Given the description of an element on the screen output the (x, y) to click on. 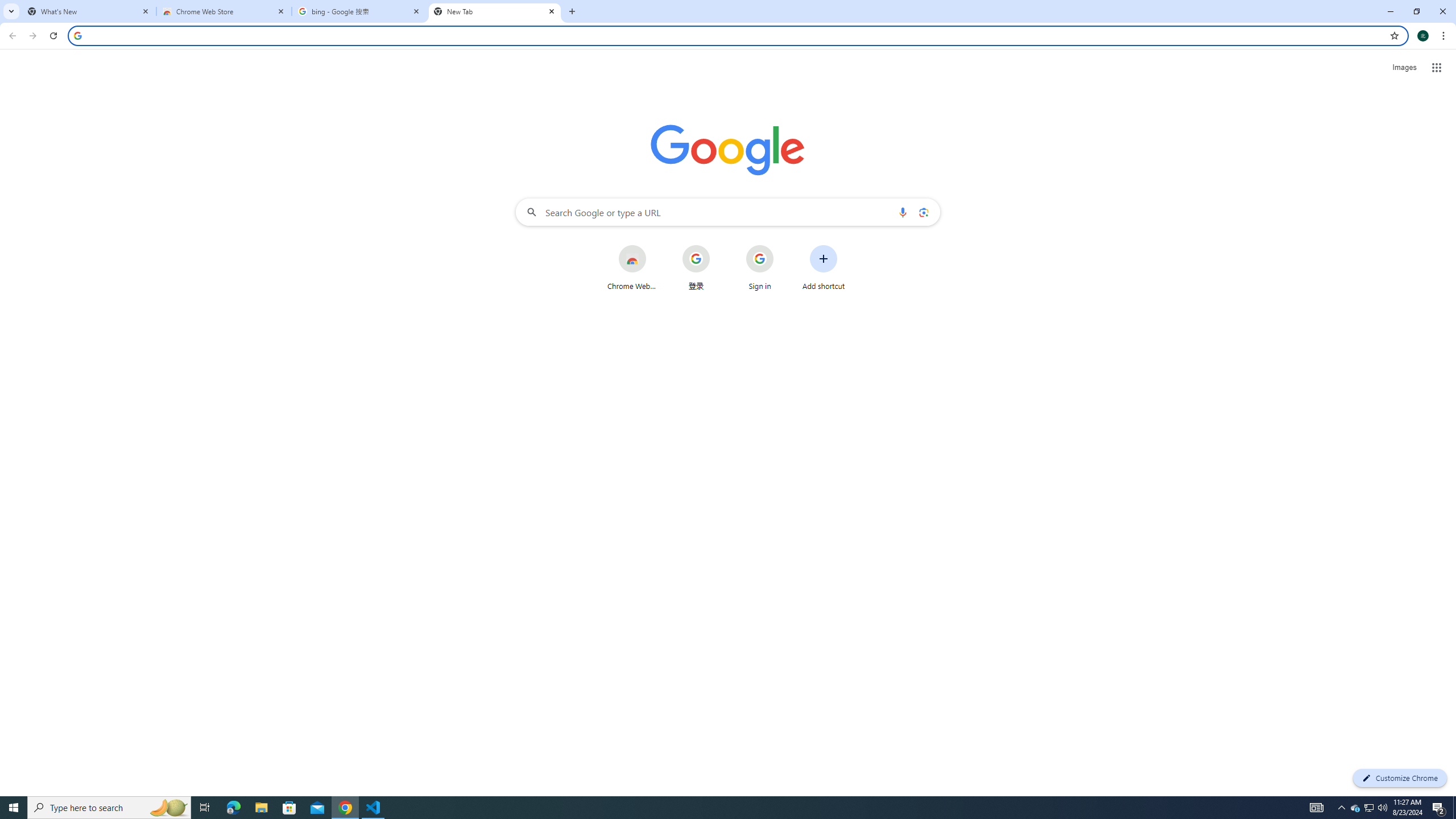
Style Set (1048, 107)
Themes (36, 92)
Paragraph Spacing (1194, 72)
Sign in (1304, 18)
Watermark (1295, 92)
Casual (580, 91)
Language Chinese (Simplified, Mainland China) (215, 773)
